Given the description of an element on the screen output the (x, y) to click on. 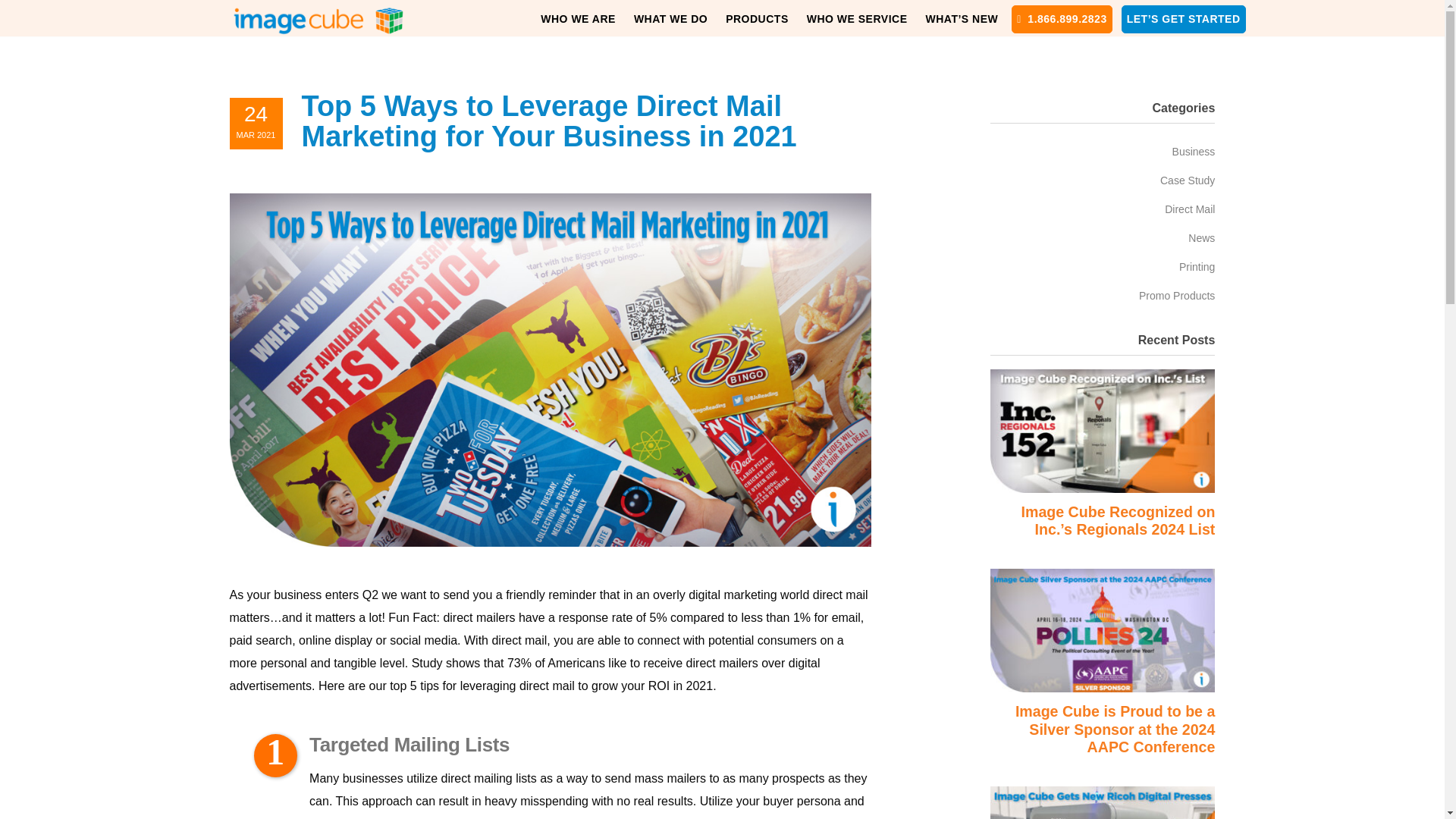
WHO WE SERVICE (857, 18)
PRODUCTS (756, 18)
Scroll to Top (1408, 782)
WHAT WE DO (669, 18)
1.866.899.2823 (1061, 18)
WHO WE ARE (577, 18)
